Given the description of an element on the screen output the (x, y) to click on. 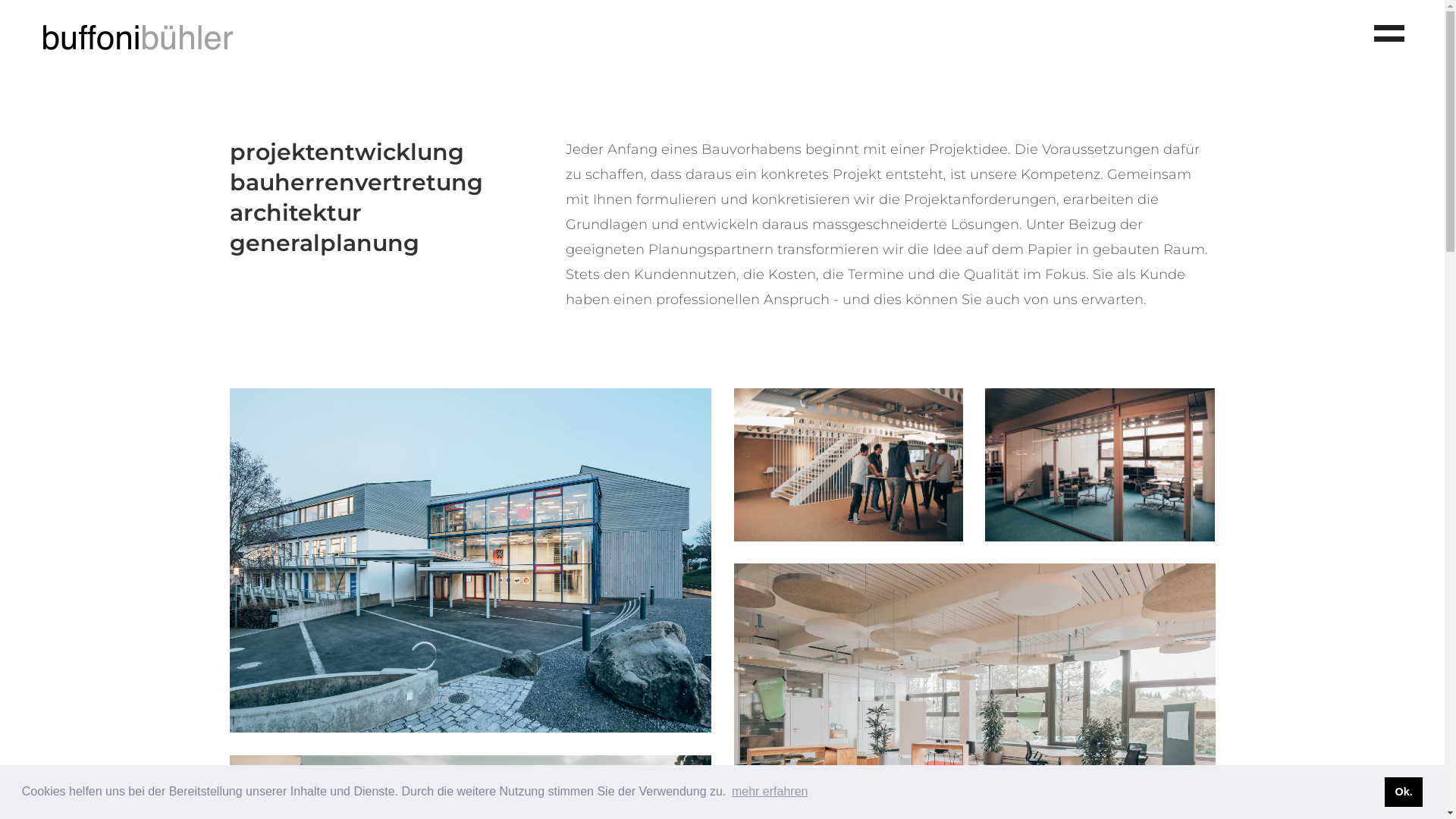
Ok. Element type: text (1403, 791)
mehr erfahren Element type: text (769, 791)
